Given the description of an element on the screen output the (x, y) to click on. 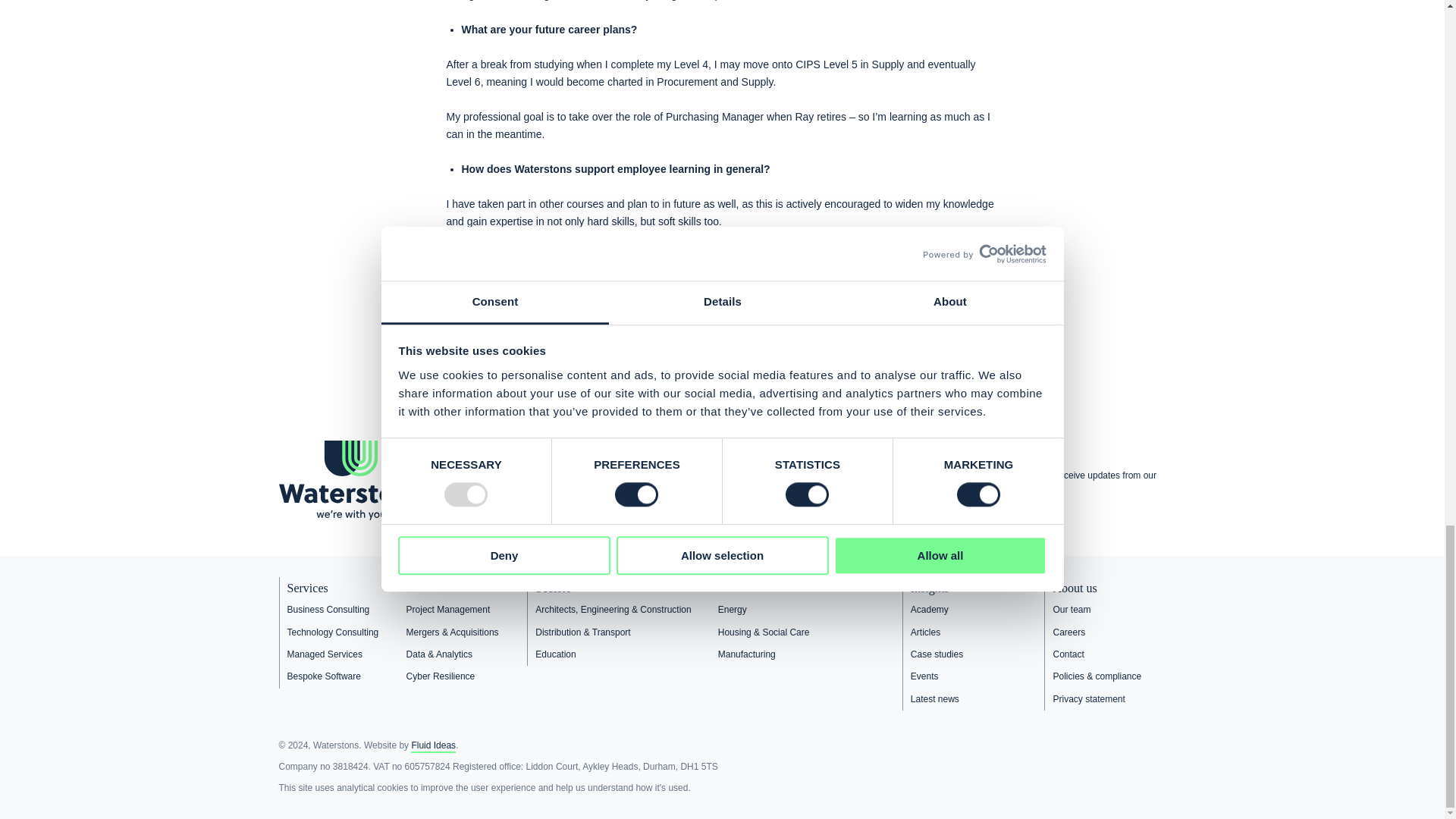
LinkedIn (999, 516)
